Given the description of an element on the screen output the (x, y) to click on. 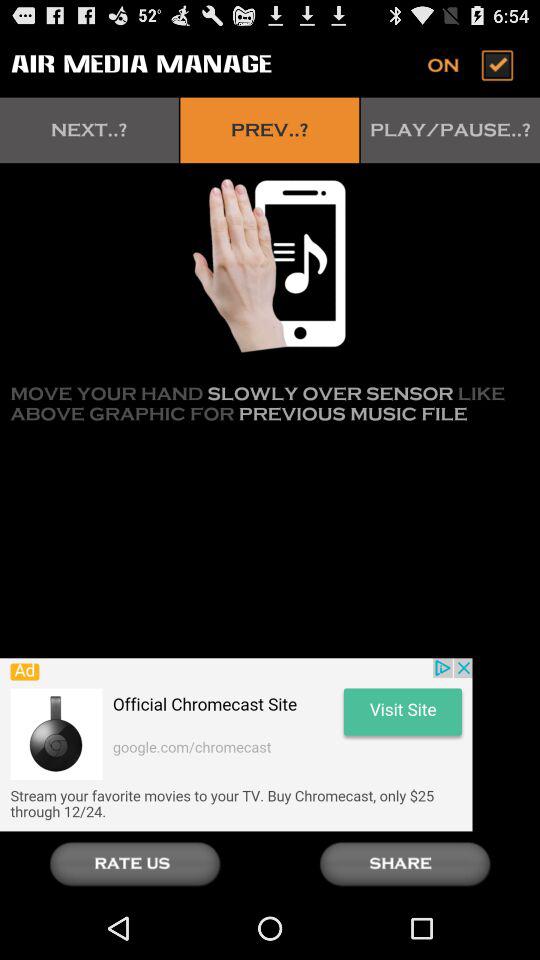
rate page (135, 863)
